Given the description of an element on the screen output the (x, y) to click on. 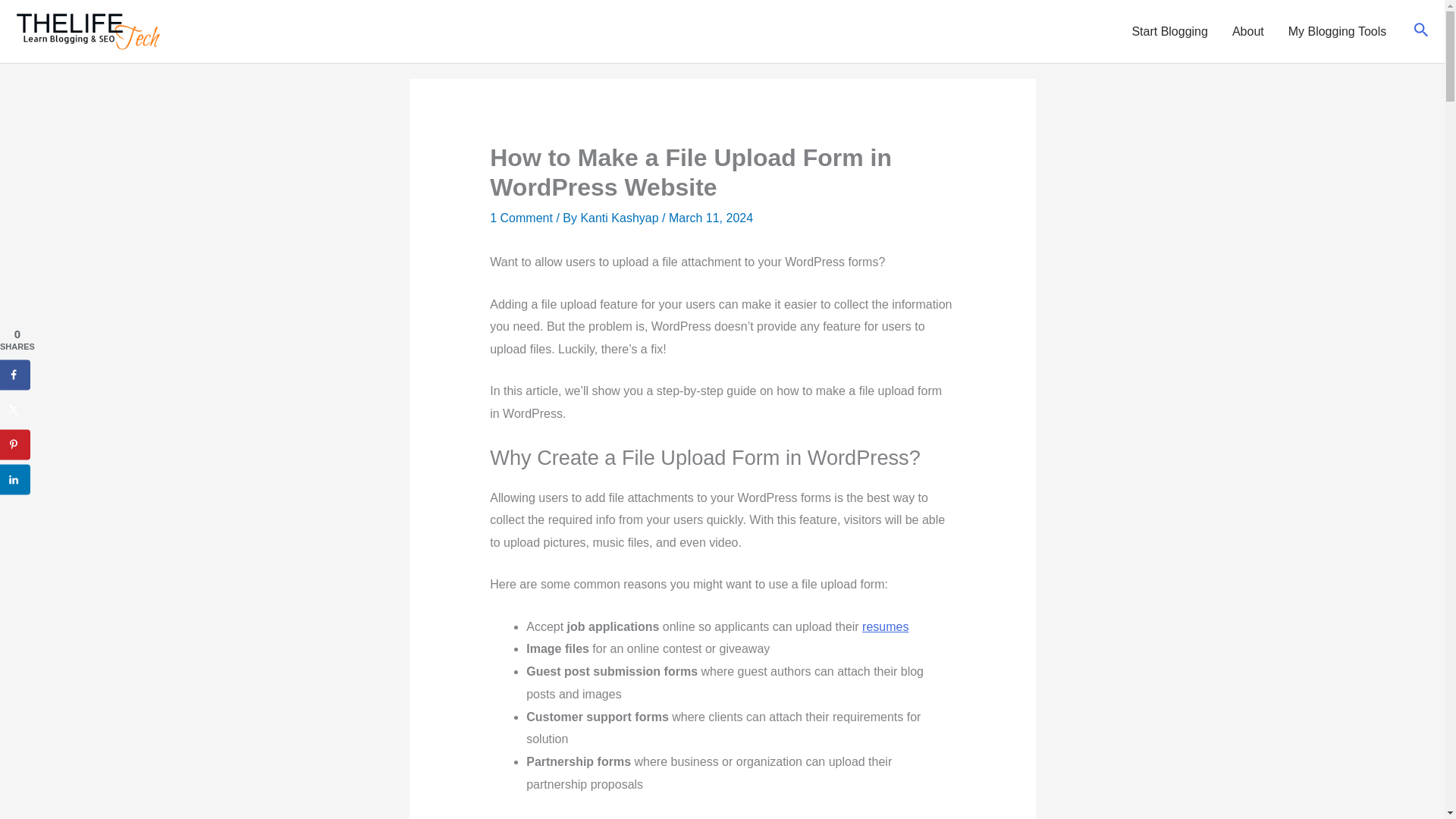
My Blogging Tools (1337, 30)
Share on X (15, 409)
Save to Pinterest (15, 444)
Share on Facebook (15, 374)
Start Blogging (1169, 30)
About (1248, 30)
resumes (884, 626)
1 Comment (521, 217)
Share on LinkedIn (15, 479)
Kanti Kashyap (620, 217)
